Given the description of an element on the screen output the (x, y) to click on. 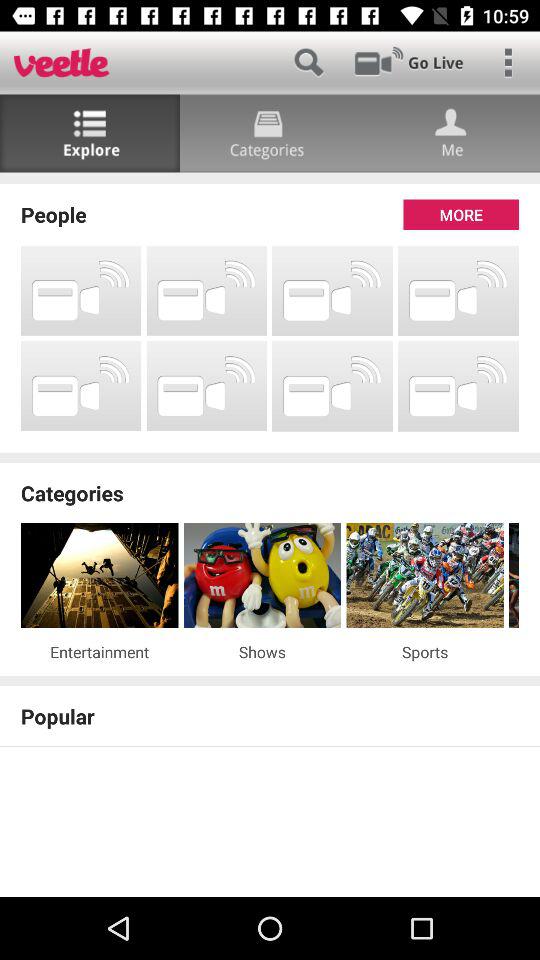
person (450, 133)
